Given the description of an element on the screen output the (x, y) to click on. 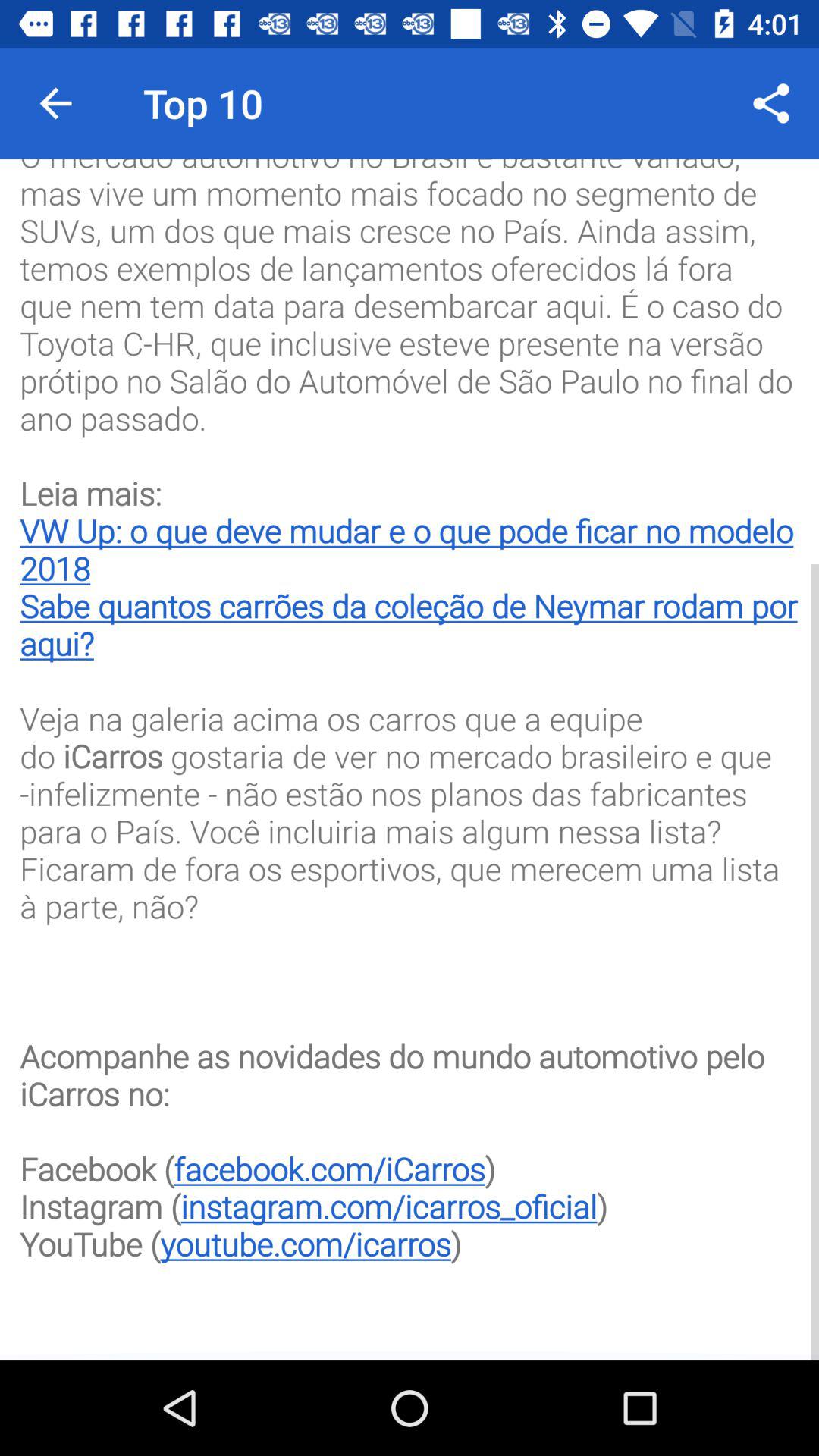
select icon at the top right corner (771, 103)
